Given the description of an element on the screen output the (x, y) to click on. 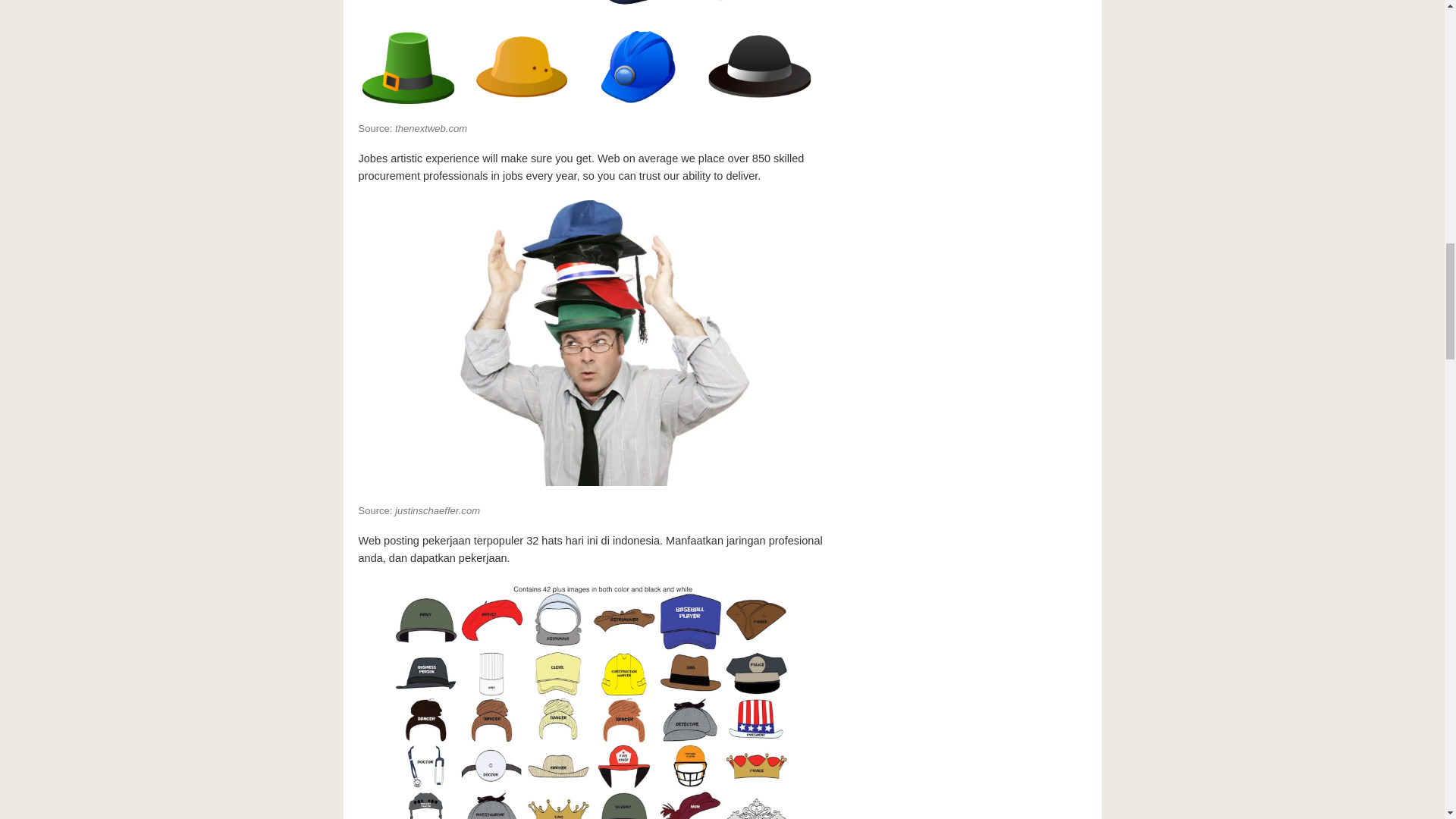
Incredible Hats Jobs Ideas 6 (590, 698)
Incredible Hats Jobs Ideas 4 (590, 53)
